Given the description of an element on the screen output the (x, y) to click on. 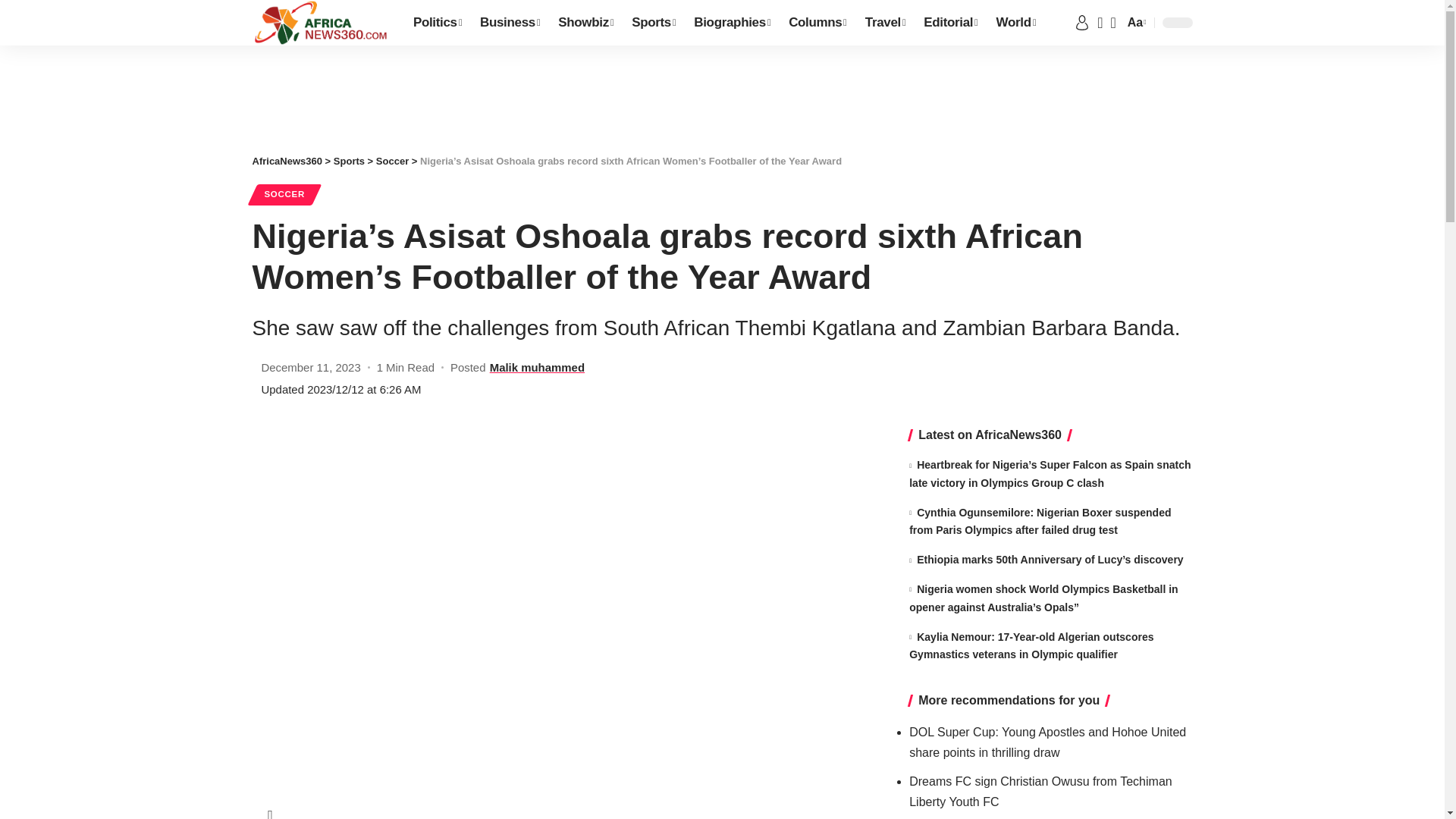
AfricaNews360 (319, 22)
Business (509, 22)
Showbiz (585, 22)
Politics (437, 22)
